Given the description of an element on the screen output the (x, y) to click on. 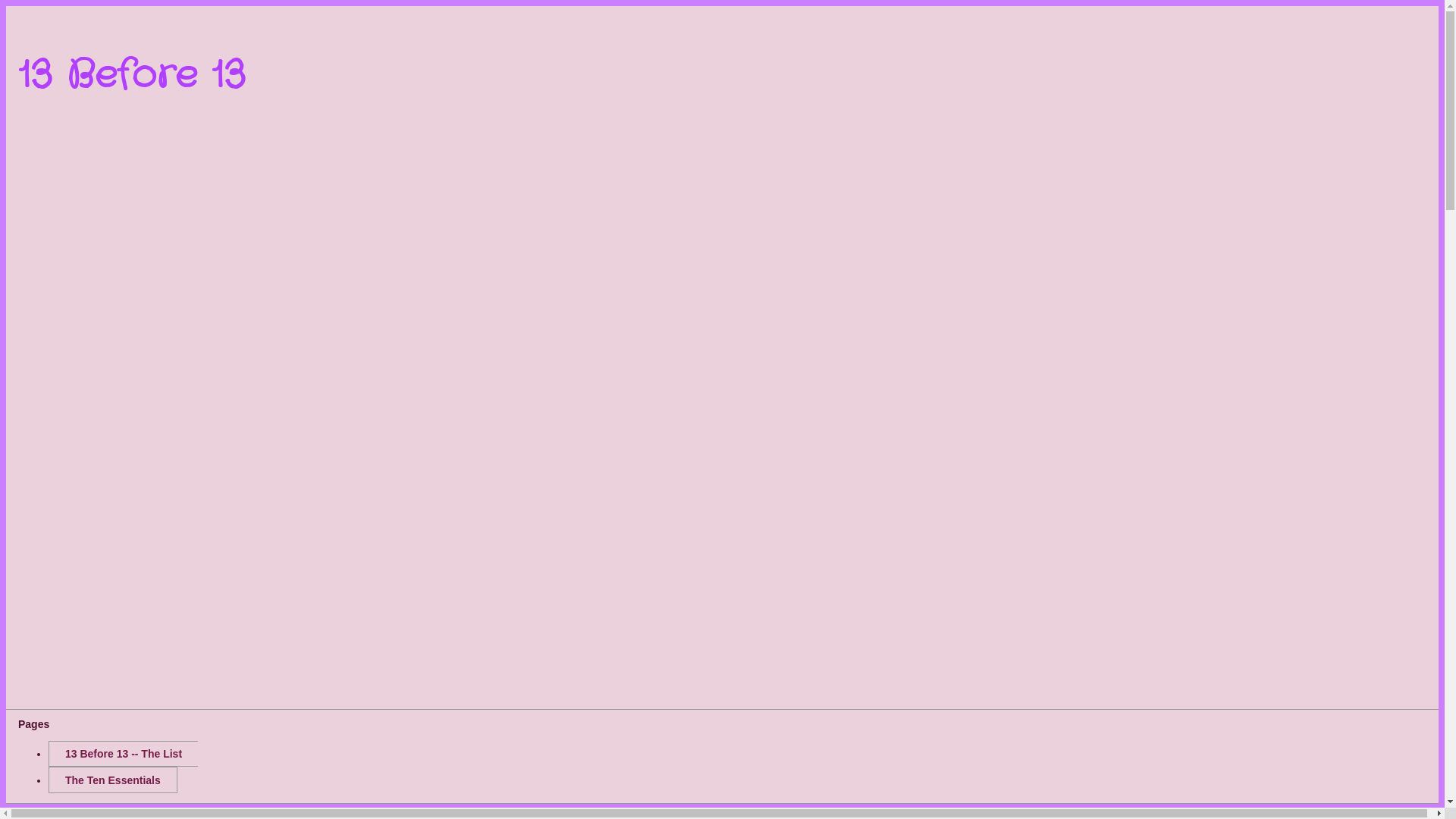
13 Before 13 -- The List Element type: text (122, 753)
13 Before 13 Element type: text (131, 75)
The Ten Essentials Element type: text (112, 779)
